Given the description of an element on the screen output the (x, y) to click on. 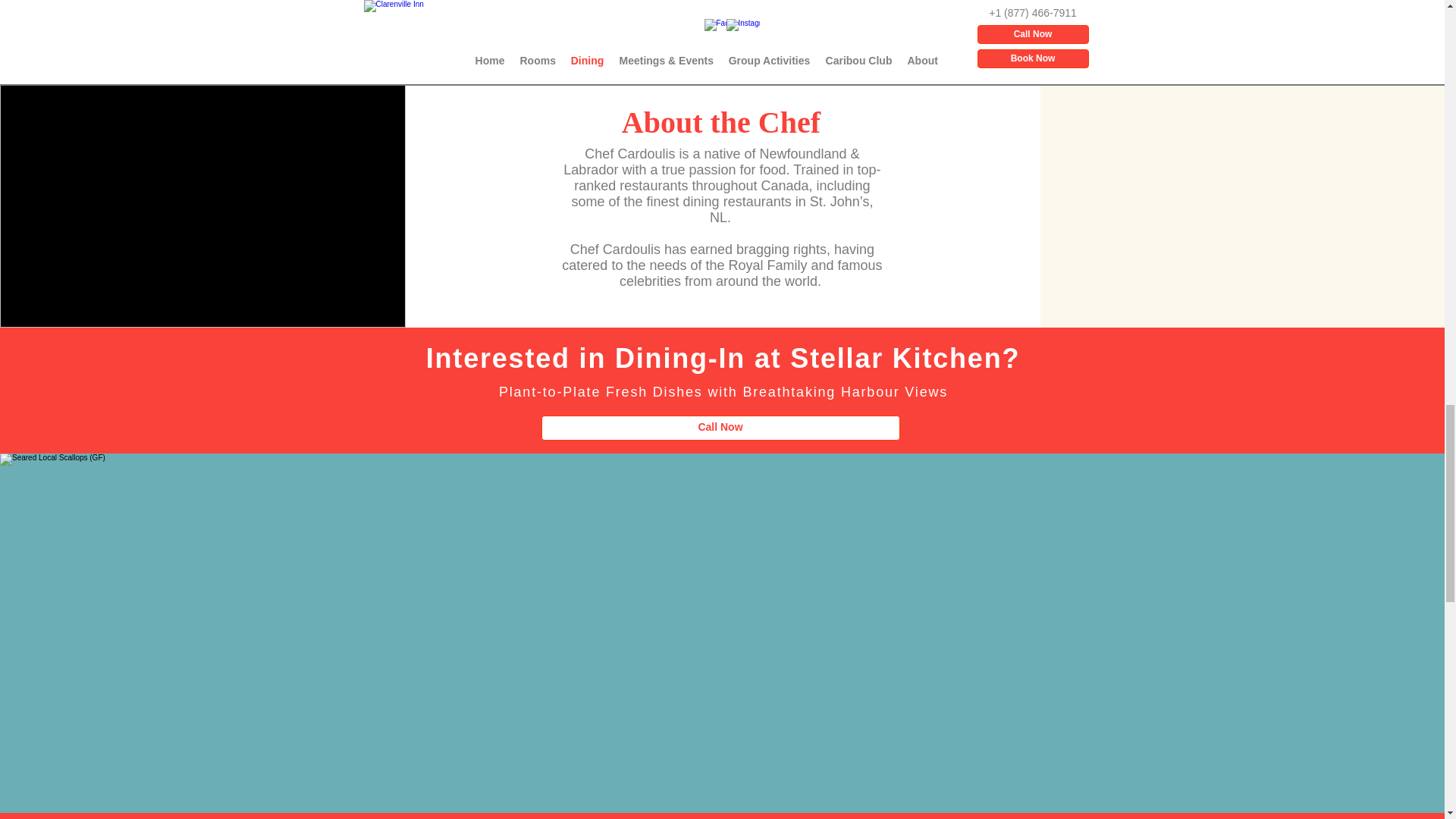
Call Now (720, 427)
